Given the description of an element on the screen output the (x, y) to click on. 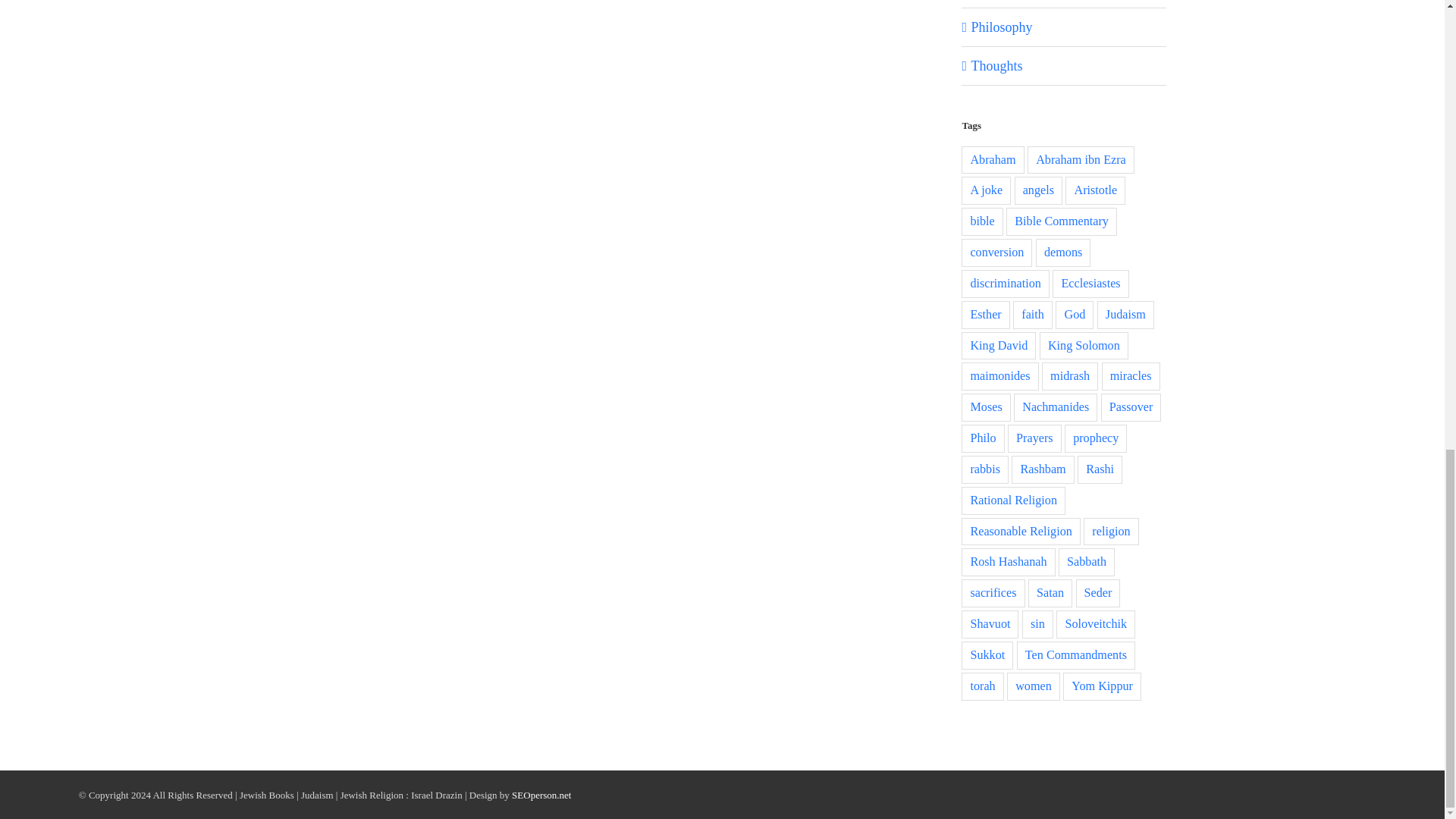
bible (981, 221)
Philosophy (1064, 26)
Abraham (991, 160)
Abraham ibn Ezra (1080, 160)
Aristotle (1095, 190)
discrimination (1004, 284)
demons (1062, 252)
conversion (996, 252)
Ecclesiastes (1090, 284)
Bible Commentary (1061, 221)
angels (1038, 190)
Thoughts (1064, 65)
A joke (985, 190)
